Given the description of an element on the screen output the (x, y) to click on. 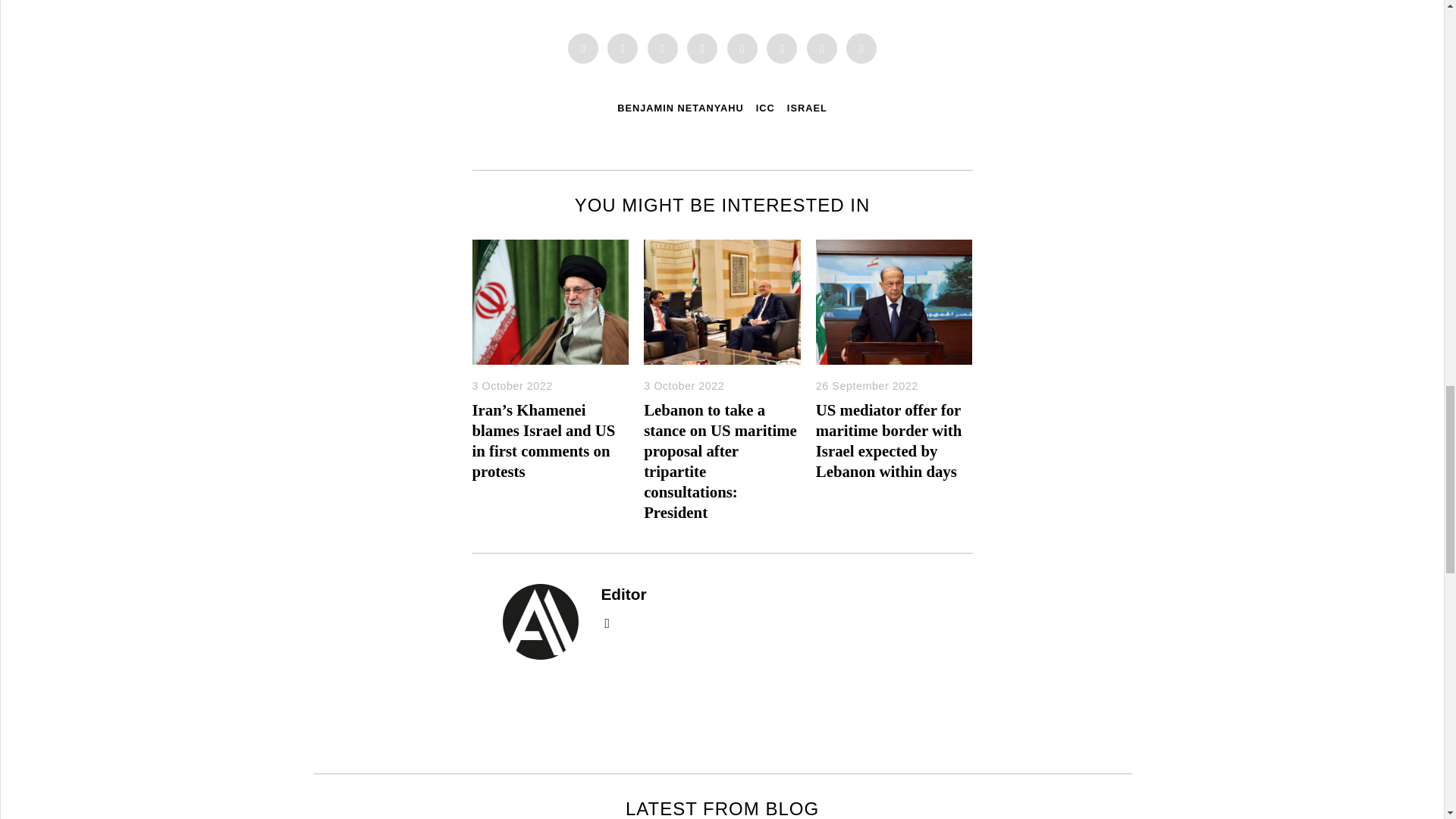
ICC (764, 107)
ISRAEL (807, 107)
Editor (622, 593)
BENJAMIN NETANYAHU (680, 107)
